Given the description of an element on the screen output the (x, y) to click on. 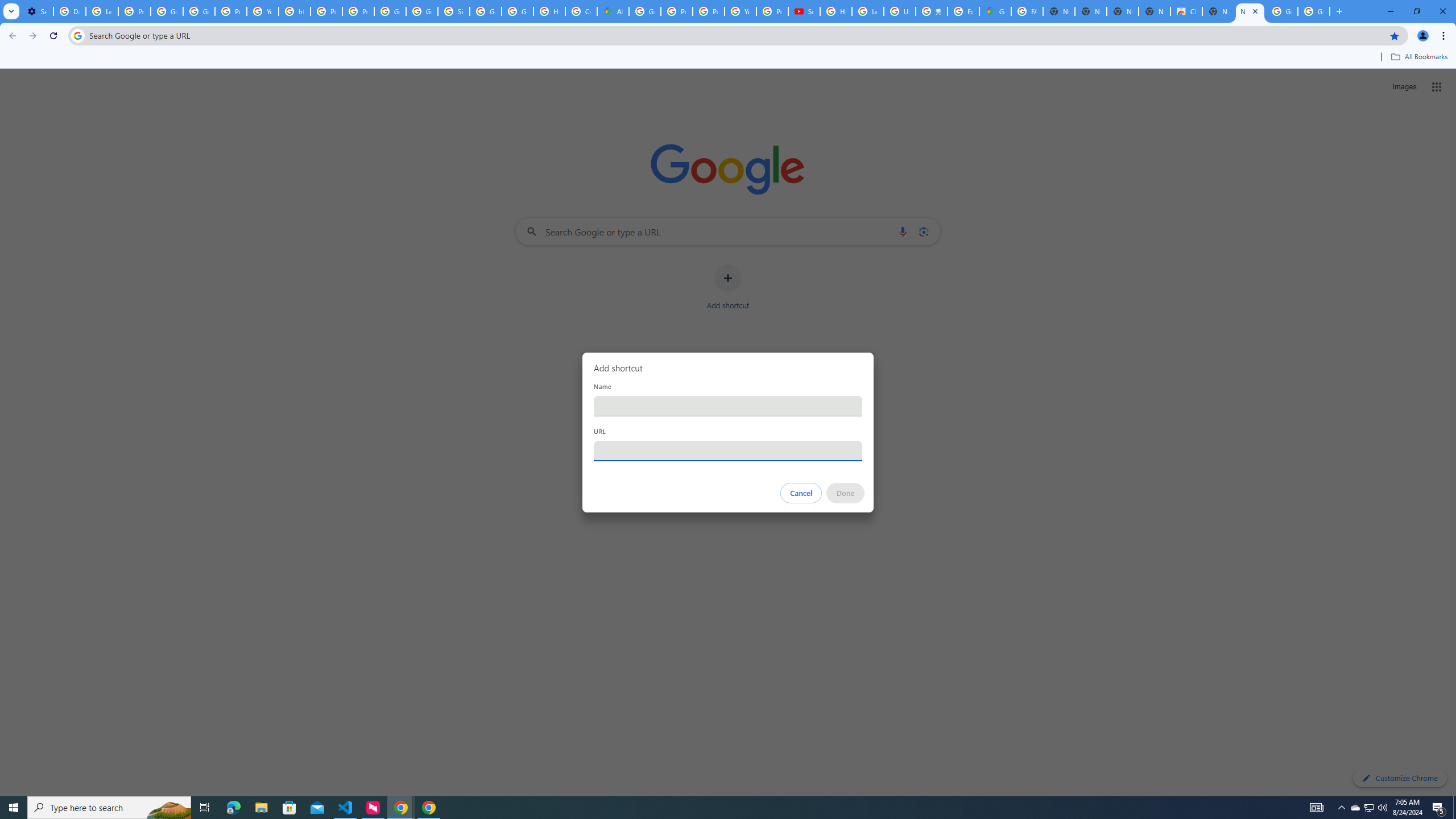
YouTube (262, 11)
Privacy Help Center - Policies Help (326, 11)
New Tab (1249, 11)
Settings - Performance (37, 11)
Privacy Help Center - Policies Help (676, 11)
Create your Google Account (581, 11)
Subscriptions - YouTube (804, 11)
Google Maps (995, 11)
